Given the description of an element on the screen output the (x, y) to click on. 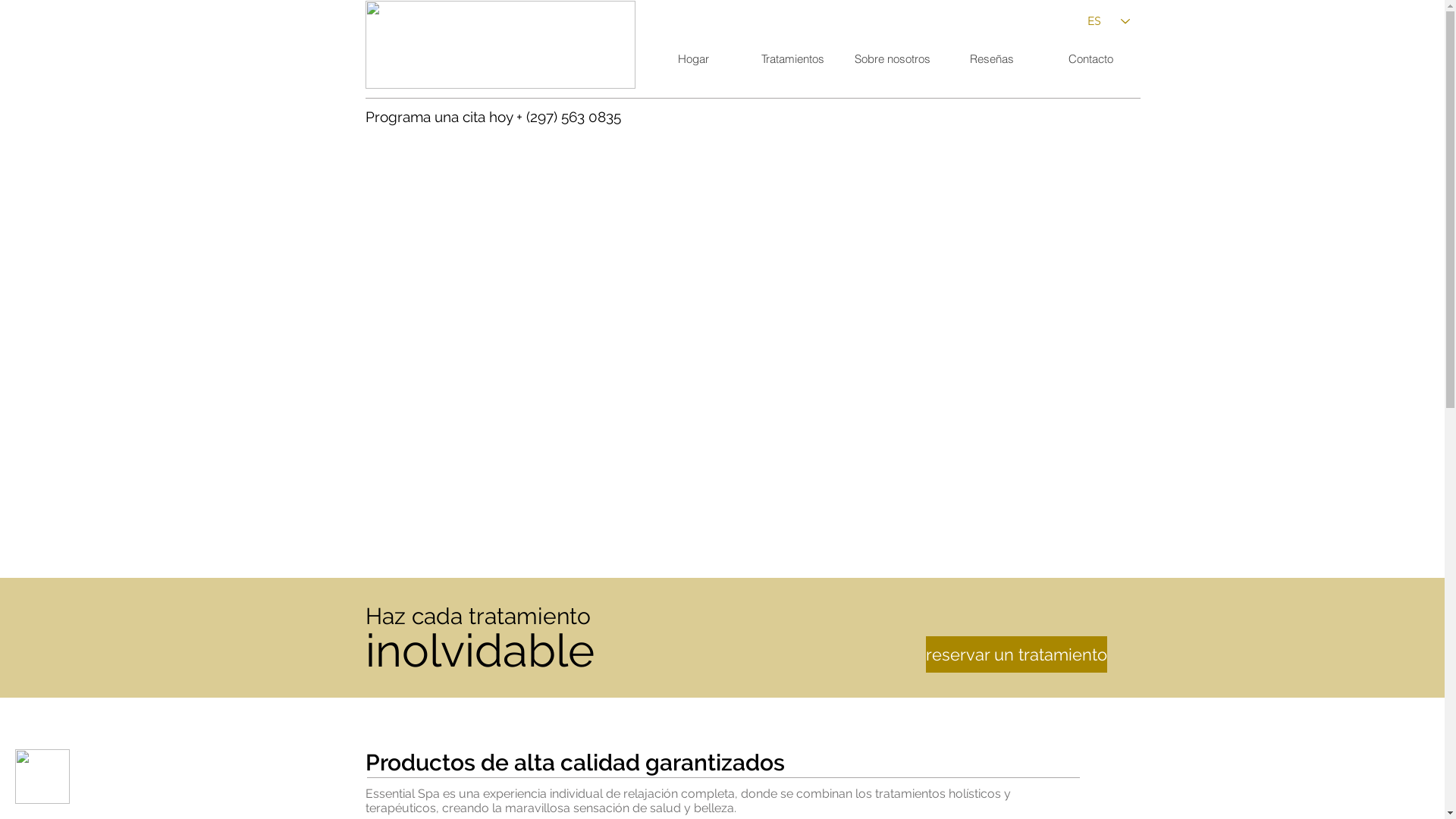
Hogar Element type: text (692, 58)
reservar un tratamiento Element type: text (1015, 654)
Sobre nosotros Element type: text (891, 58)
Logo Nuevo.PNG Element type: hover (500, 44)
Chat with us! Element type: hover (42, 776)
+ (297) 563 0835 Element type: text (567, 116)
Contacto Element type: text (1089, 58)
Tratamientos Element type: text (792, 58)
